Given the description of an element on the screen output the (x, y) to click on. 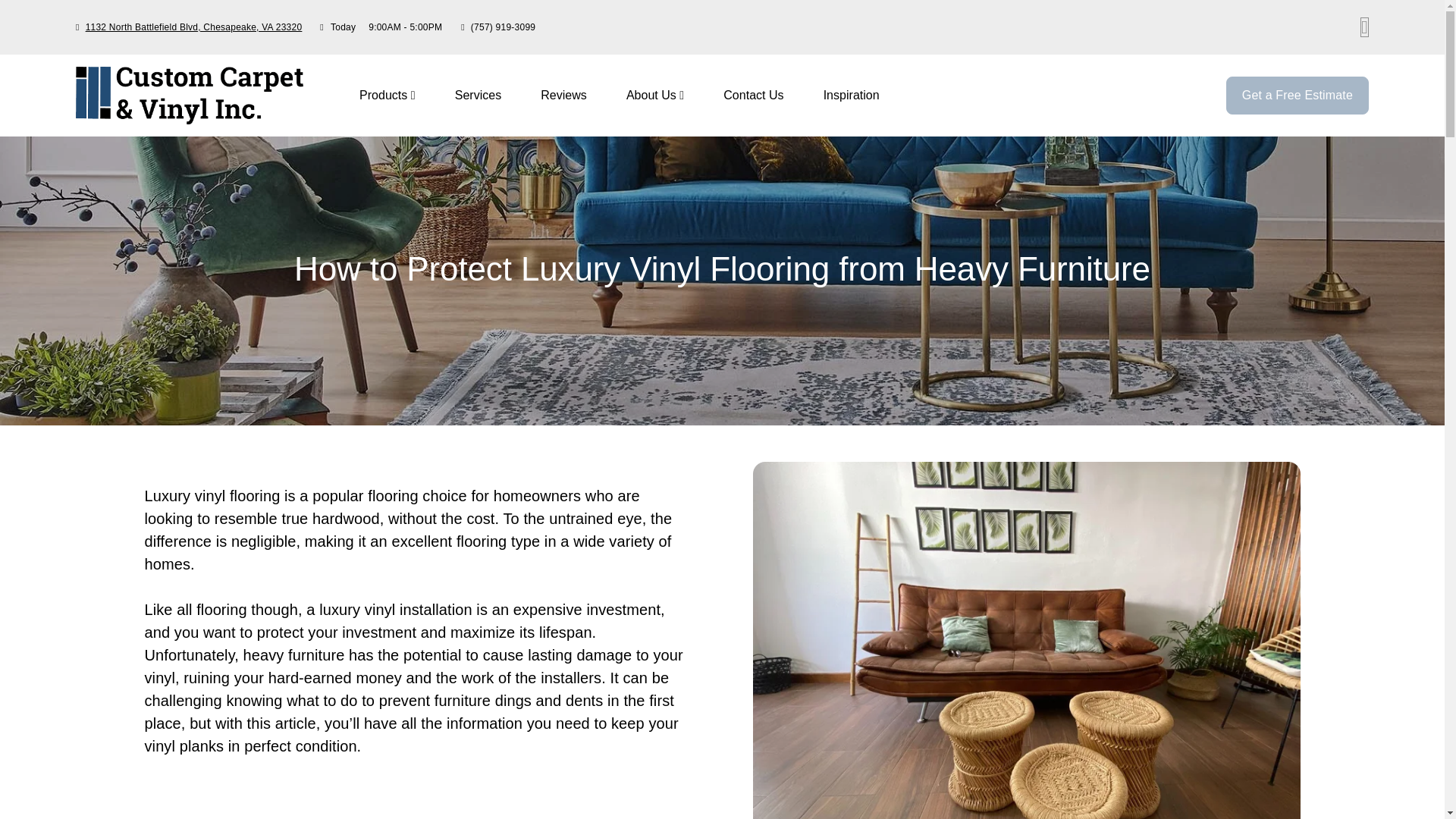
Search (1363, 26)
Services (477, 94)
Products (764, 95)
1132 North Battlefield Blvd, Chesapeake, VA 23320 (764, 95)
